Given the description of an element on the screen output the (x, y) to click on. 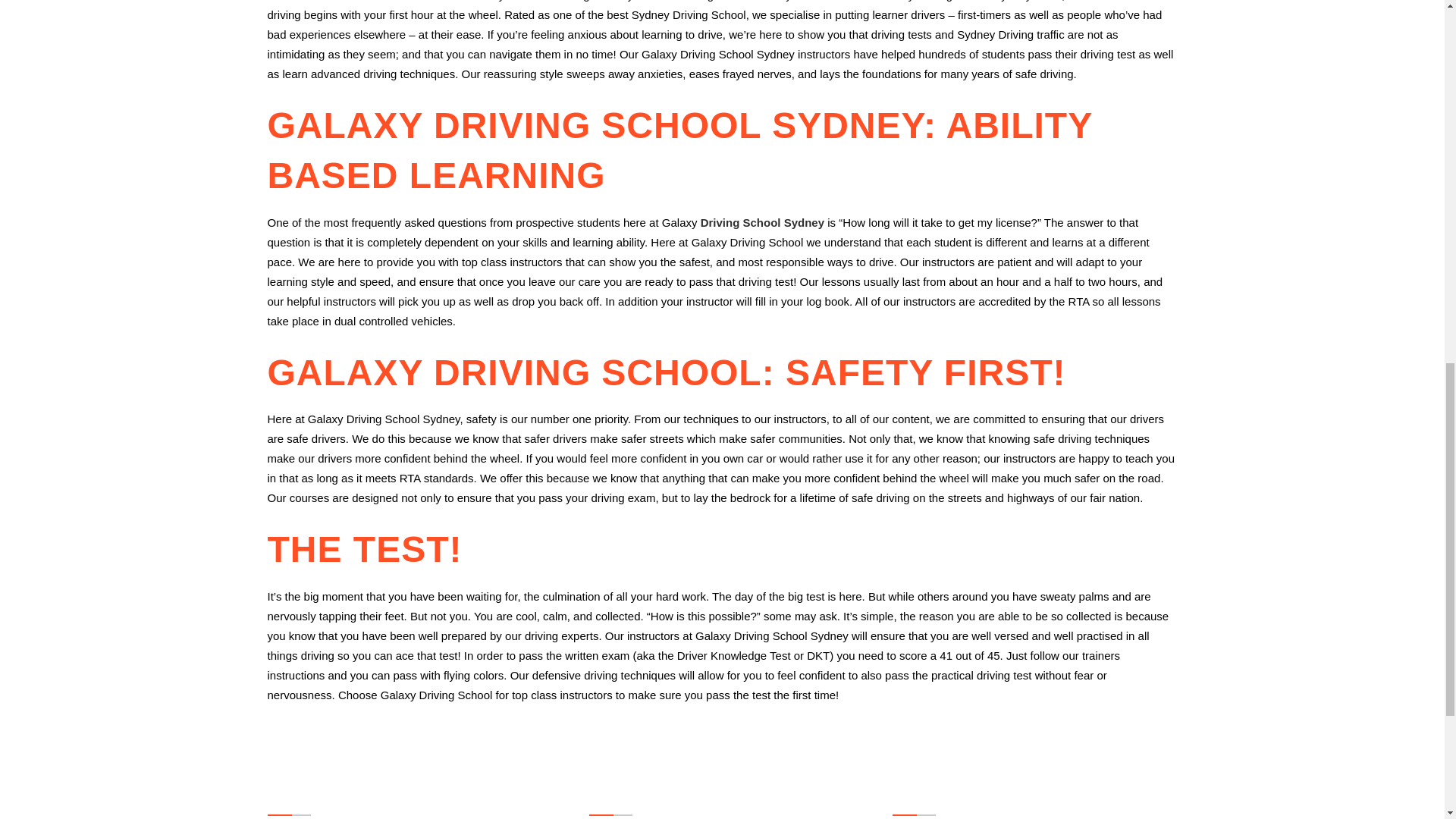
Driving School Sydney (762, 222)
